Given the description of an element on the screen output the (x, y) to click on. 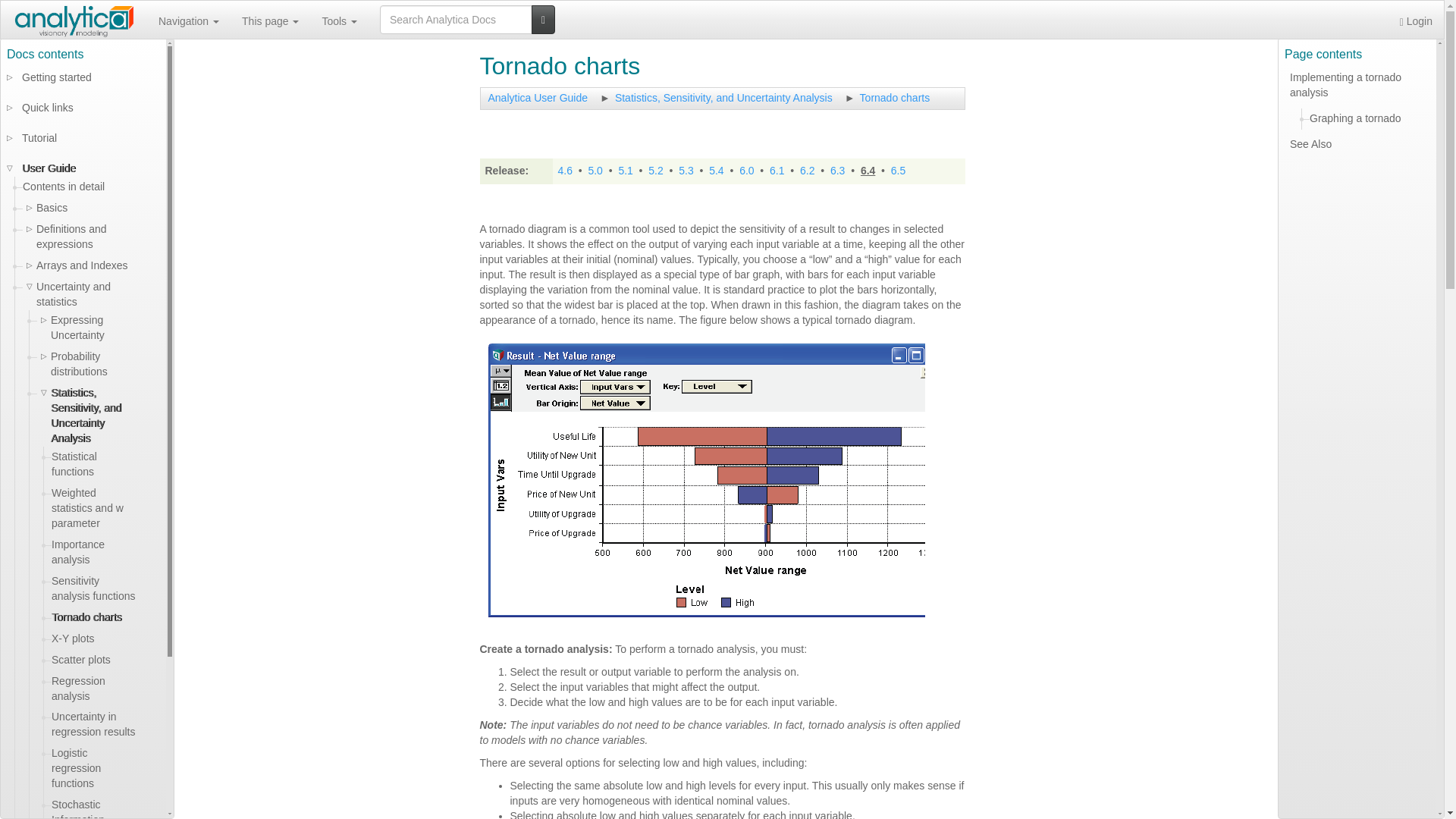
6.3 (836, 170)
Statistics, Sensitivity, and Uncertainty Analysis (723, 97)
5.2 (654, 170)
6.0 (746, 170)
Login (1416, 19)
5.0 (595, 170)
Analytica User Guide (537, 97)
6.1 (777, 170)
Analytica User Guide (537, 97)
5.4 (716, 170)
Statistics, Sensitivity, and Uncertainty Analysis (723, 97)
Navigation (188, 19)
4.6 (564, 170)
5.3 (685, 170)
6.5 (898, 170)
